Given the description of an element on the screen output the (x, y) to click on. 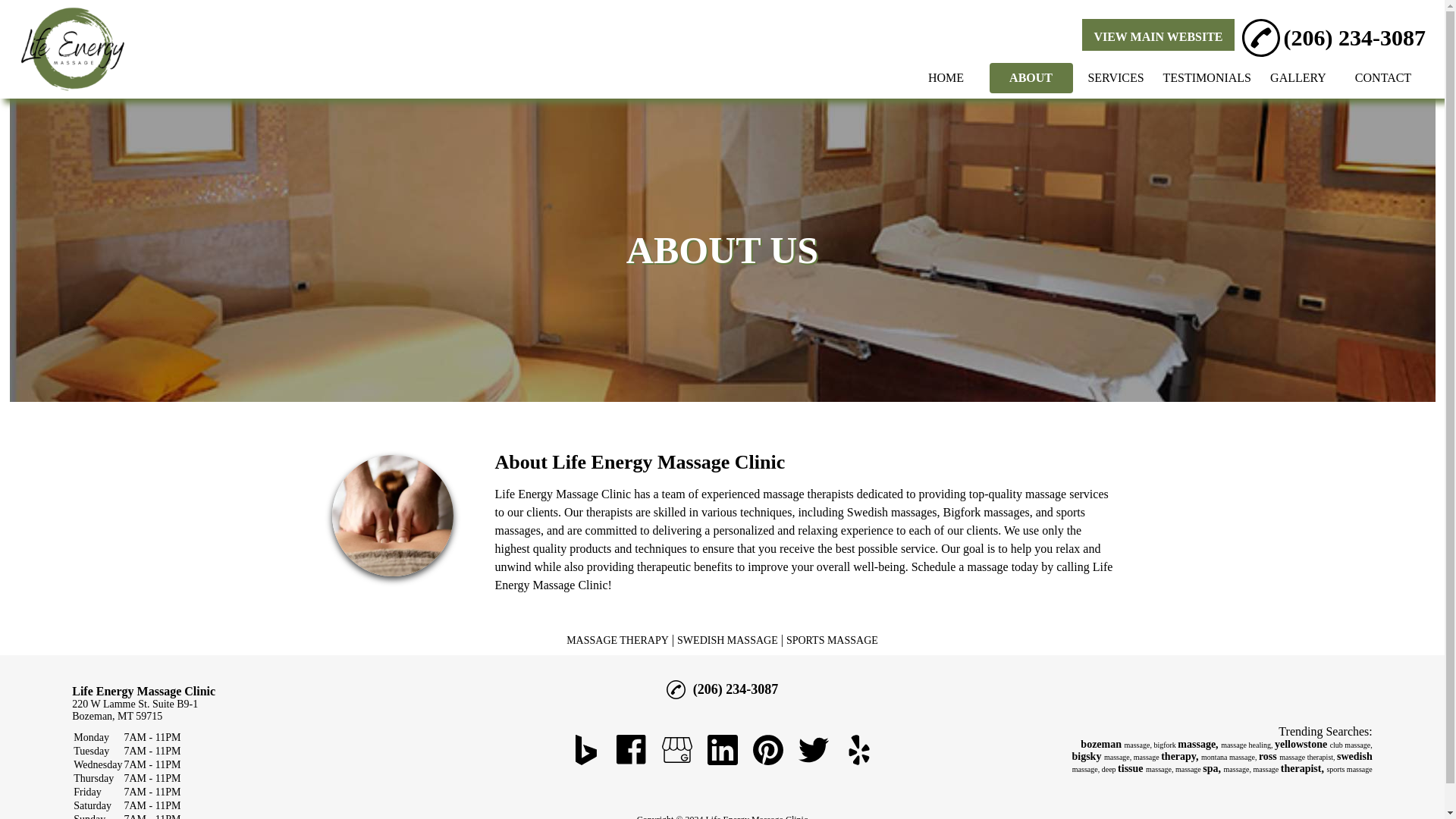
HOME (946, 77)
MASSAGE THERAPY (617, 640)
SPORTS MASSAGE (831, 640)
CONTACT (1382, 77)
TESTIMONIALS (1206, 77)
VIEW MAIN WEBSITE (1158, 36)
SWEDISH MASSAGE (727, 640)
GALLERY (1297, 77)
ABOUT (1031, 77)
